Given the description of an element on the screen output the (x, y) to click on. 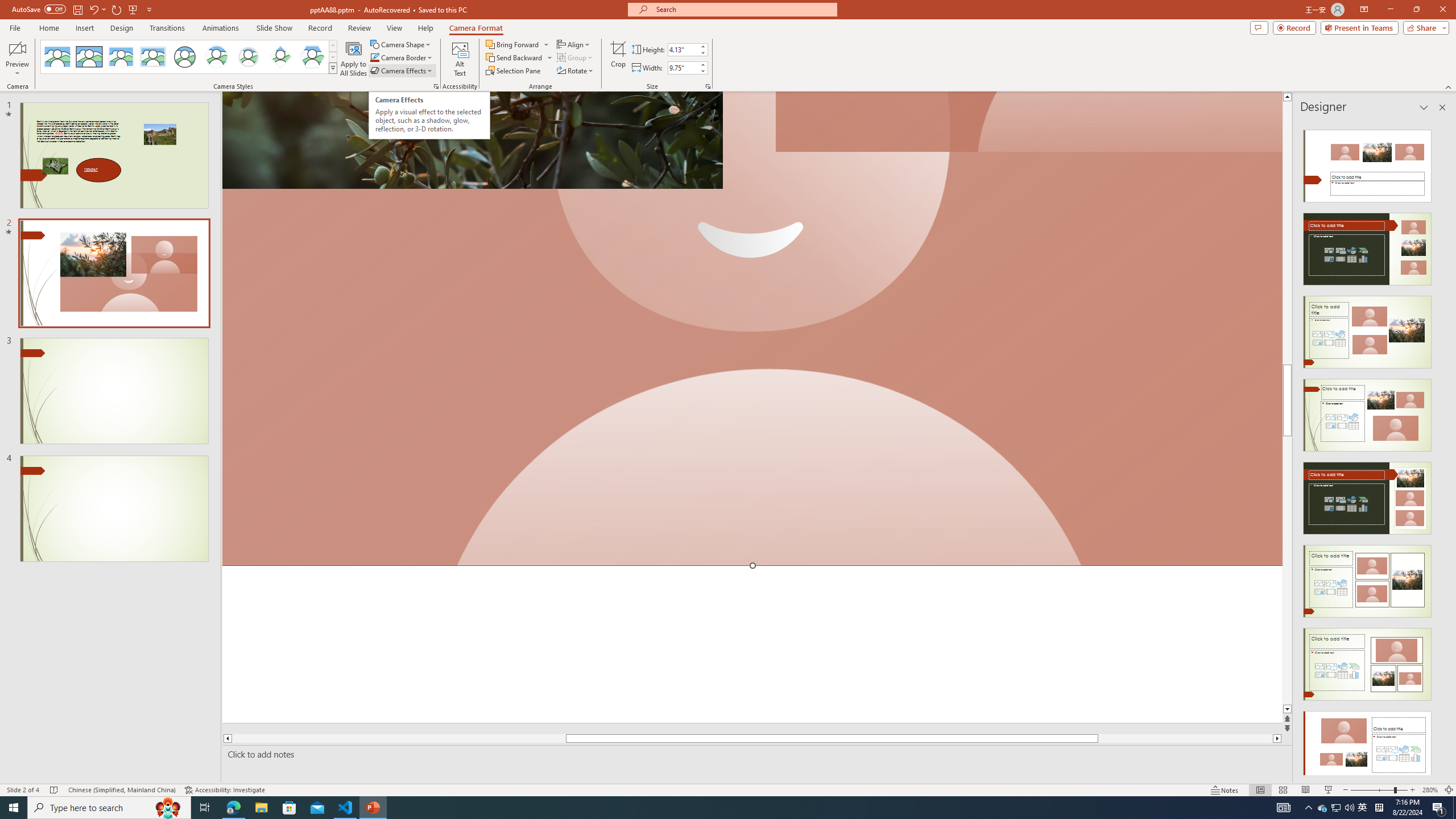
Format Object... (435, 85)
Crop (617, 58)
Center Shadow Diamond (280, 56)
Enable Camera Preview (17, 48)
Camera Border Teal, Accent 1 (374, 56)
Center Shadow Rectangle (120, 56)
Bring Forward (513, 44)
Camera 13, No camera detected. (752, 328)
